Given the description of an element on the screen output the (x, y) to click on. 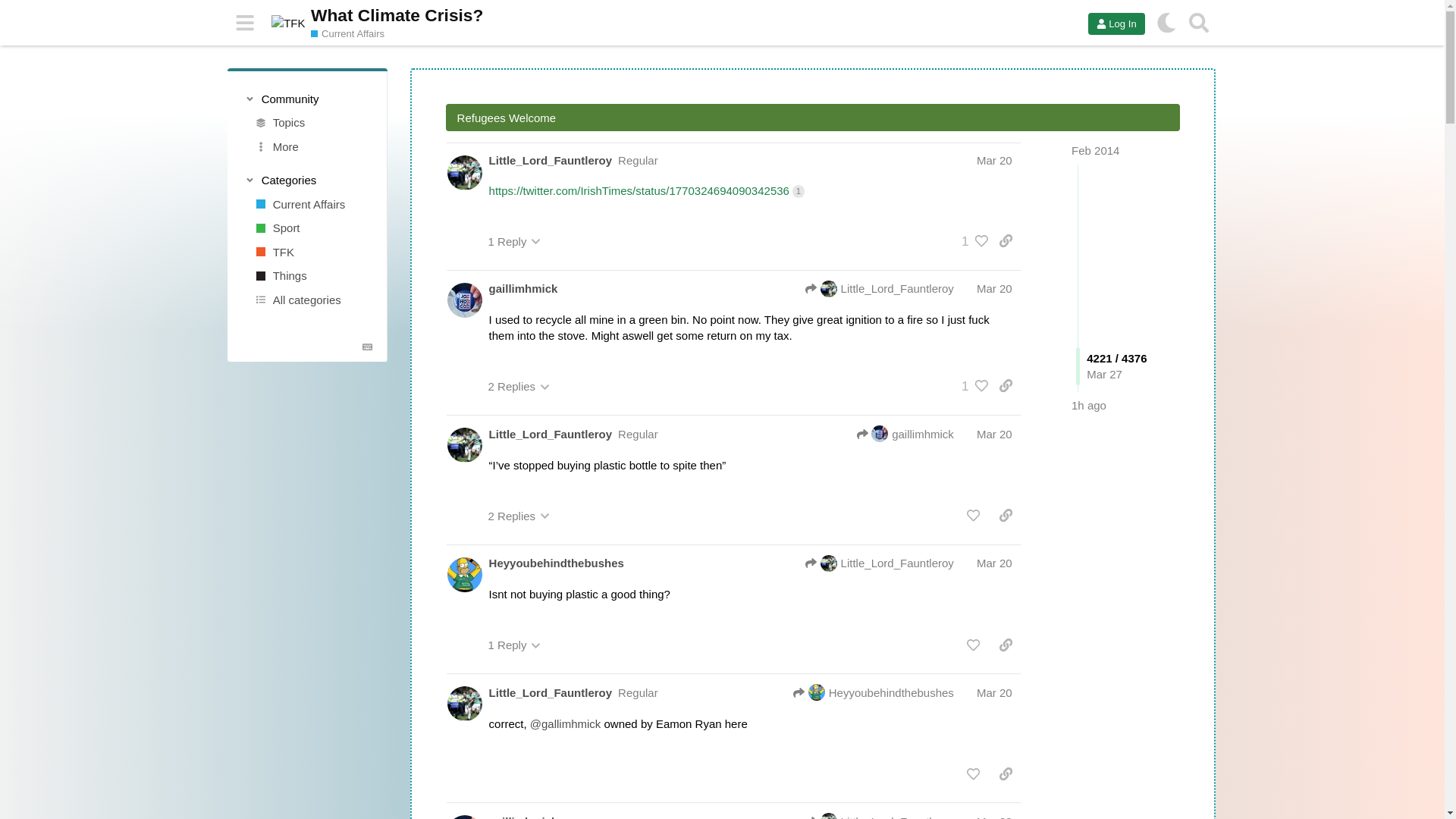
Toggle section (306, 98)
gaillimhmick (523, 288)
Current Affairs (311, 203)
Topics (311, 122)
Categories (306, 180)
2 Replies (518, 386)
Search (1198, 22)
Things (311, 275)
1h ago (1088, 405)
